Given the description of an element on the screen output the (x, y) to click on. 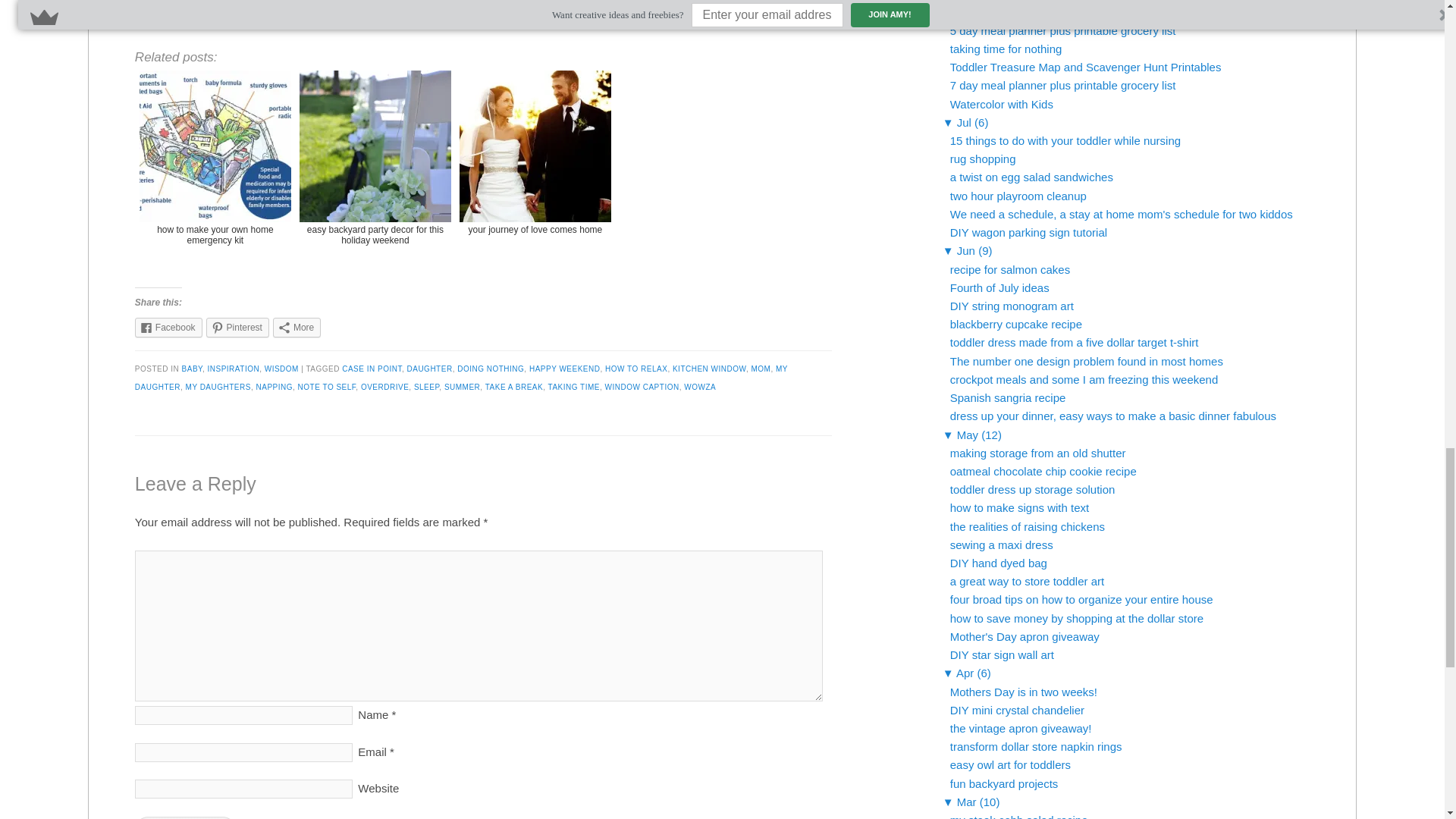
INSPIRATION (234, 367)
Click to share on Pinterest (237, 327)
WISDOM (281, 367)
CASE IN POINT (371, 367)
Post Comment (185, 817)
More (296, 327)
Pinterest (237, 327)
BABY (192, 367)
Click to share on Facebook (168, 327)
DAUGHTER (428, 367)
Facebook (168, 327)
